Given the description of an element on the screen output the (x, y) to click on. 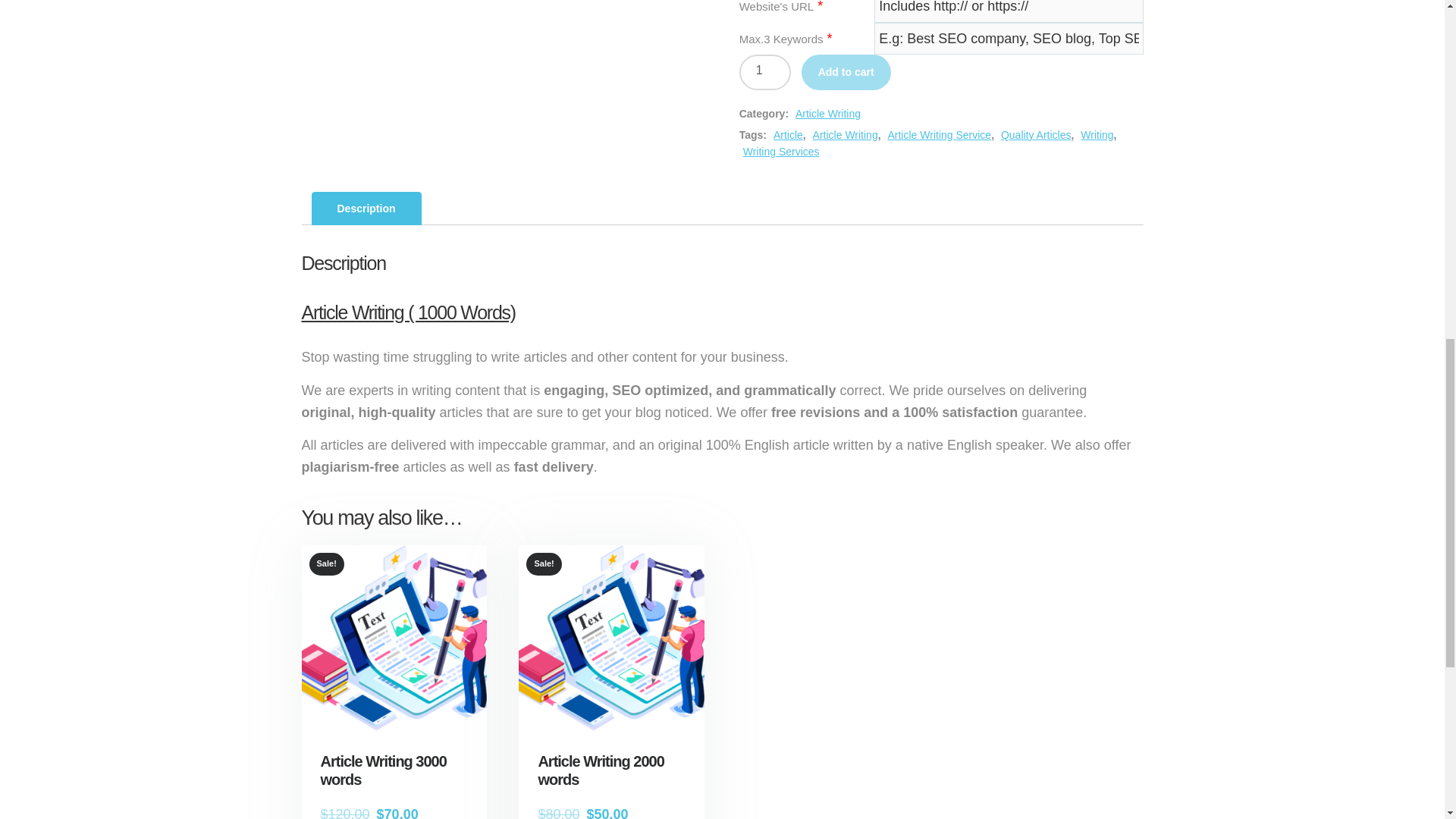
Qty (764, 72)
Quality Articles (1036, 134)
Writing (1096, 134)
Article Writing (827, 113)
Article Writing (844, 134)
Add to cart (846, 72)
Article (788, 134)
1 (764, 72)
Article Writing Service (938, 134)
